Given the description of an element on the screen output the (x, y) to click on. 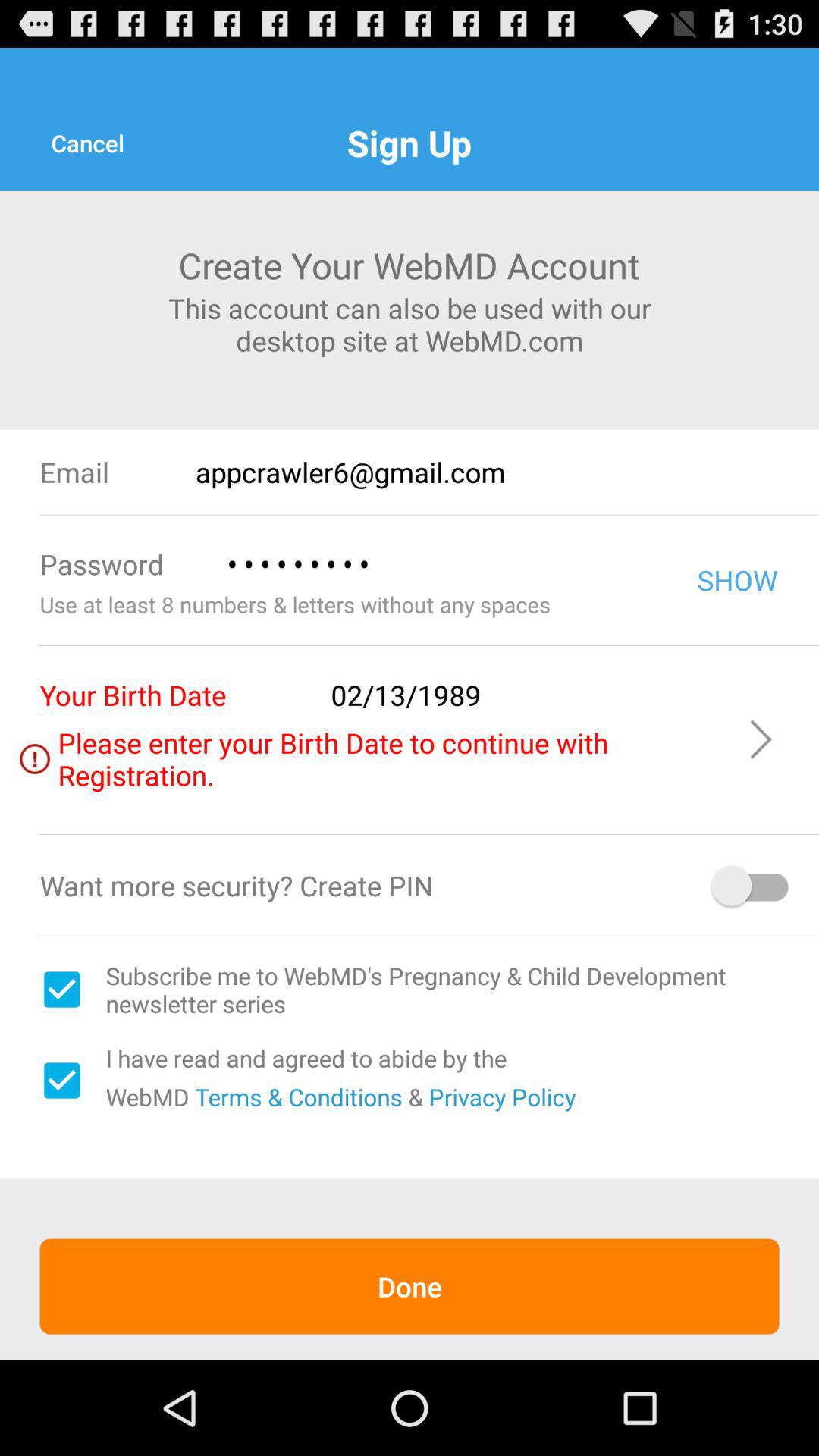
tick the subscribe (61, 989)
